Given the description of an element on the screen output the (x, y) to click on. 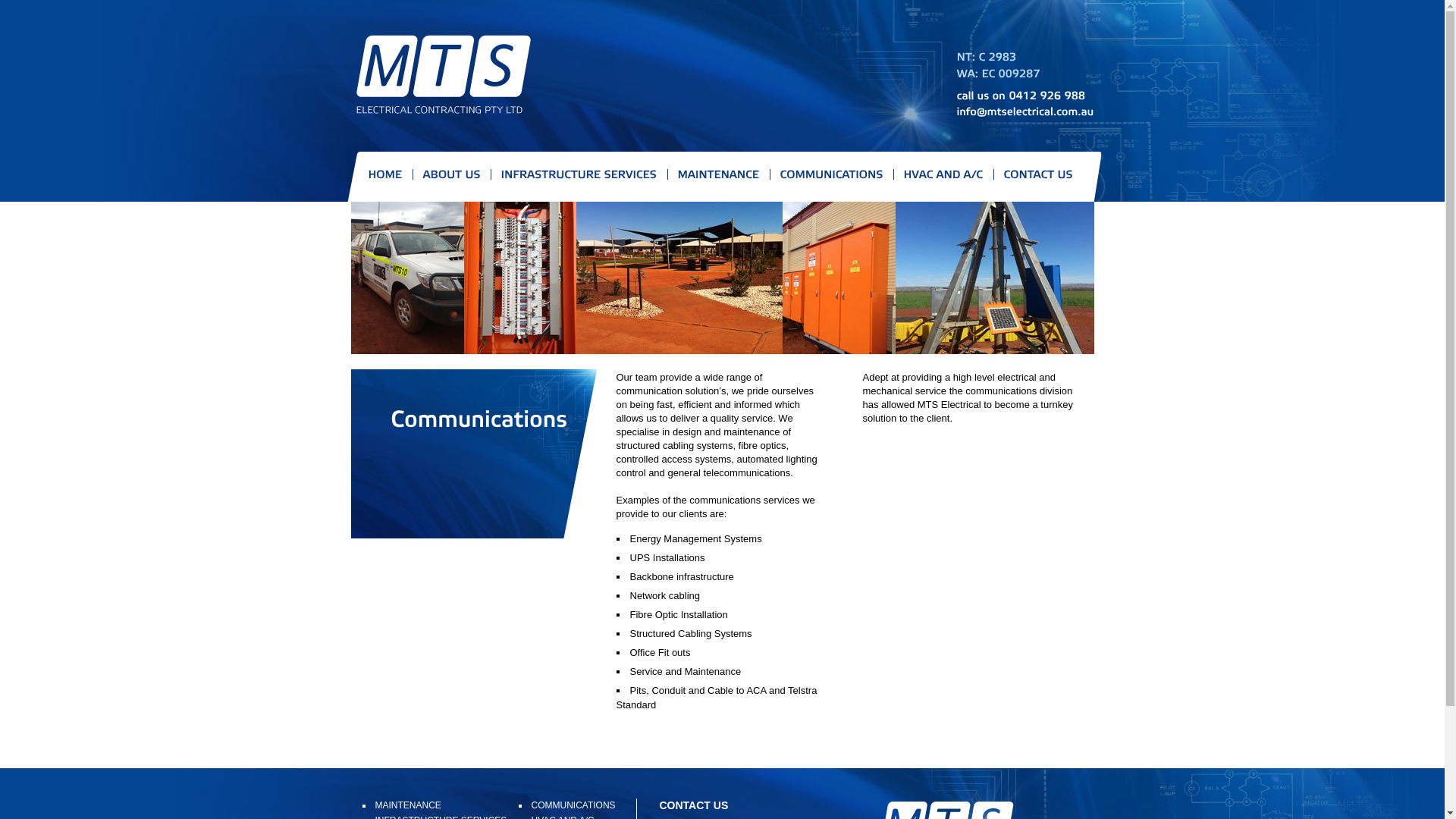
MAINTENANCE Element type: text (407, 805)
COMMUNICATIONS Element type: text (572, 805)
